Given the description of an element on the screen output the (x, y) to click on. 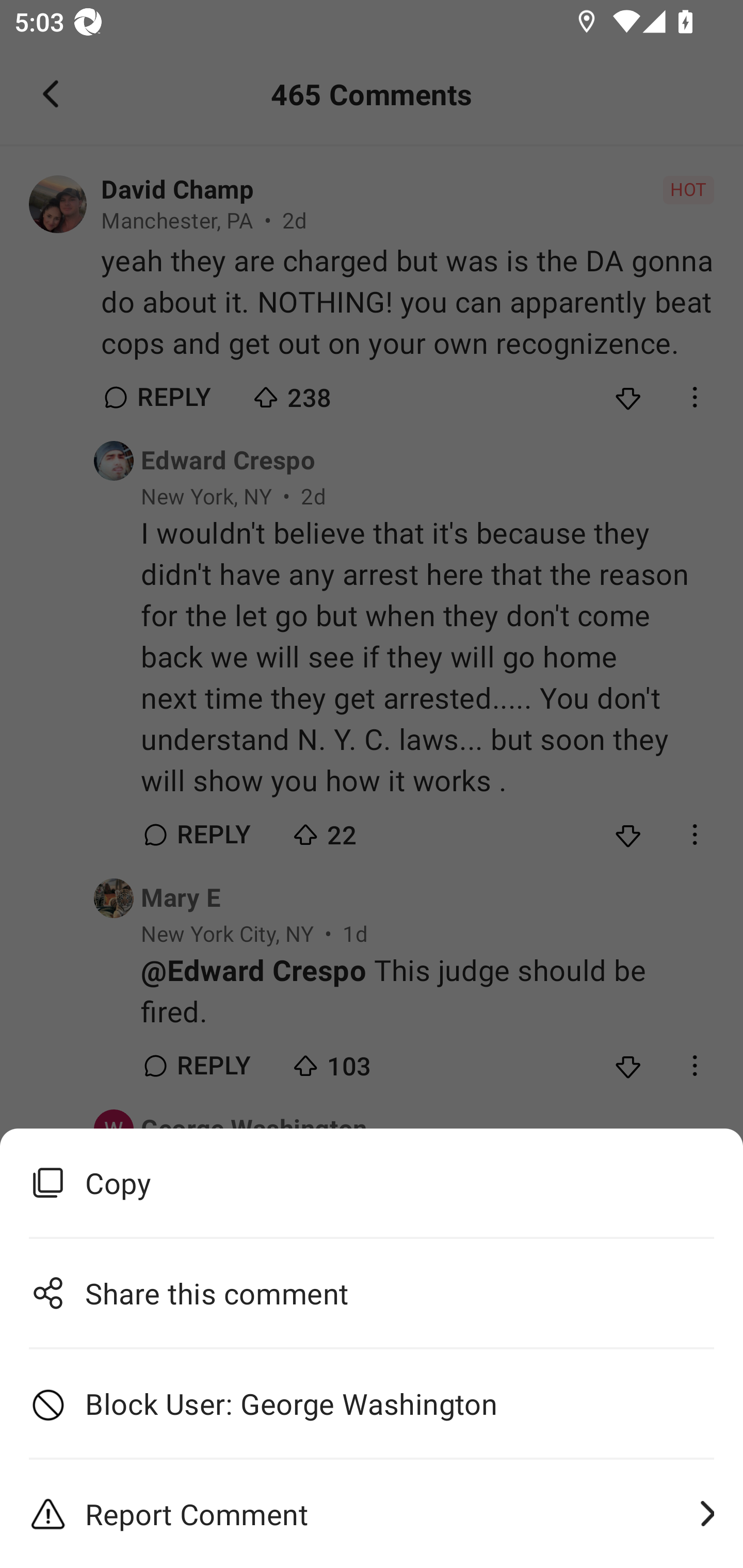
Copy (371, 1182)
Share this comment (371, 1292)
Block User: George Washington  (371, 1404)
Report Comment (371, 1513)
